Given the description of an element on the screen output the (x, y) to click on. 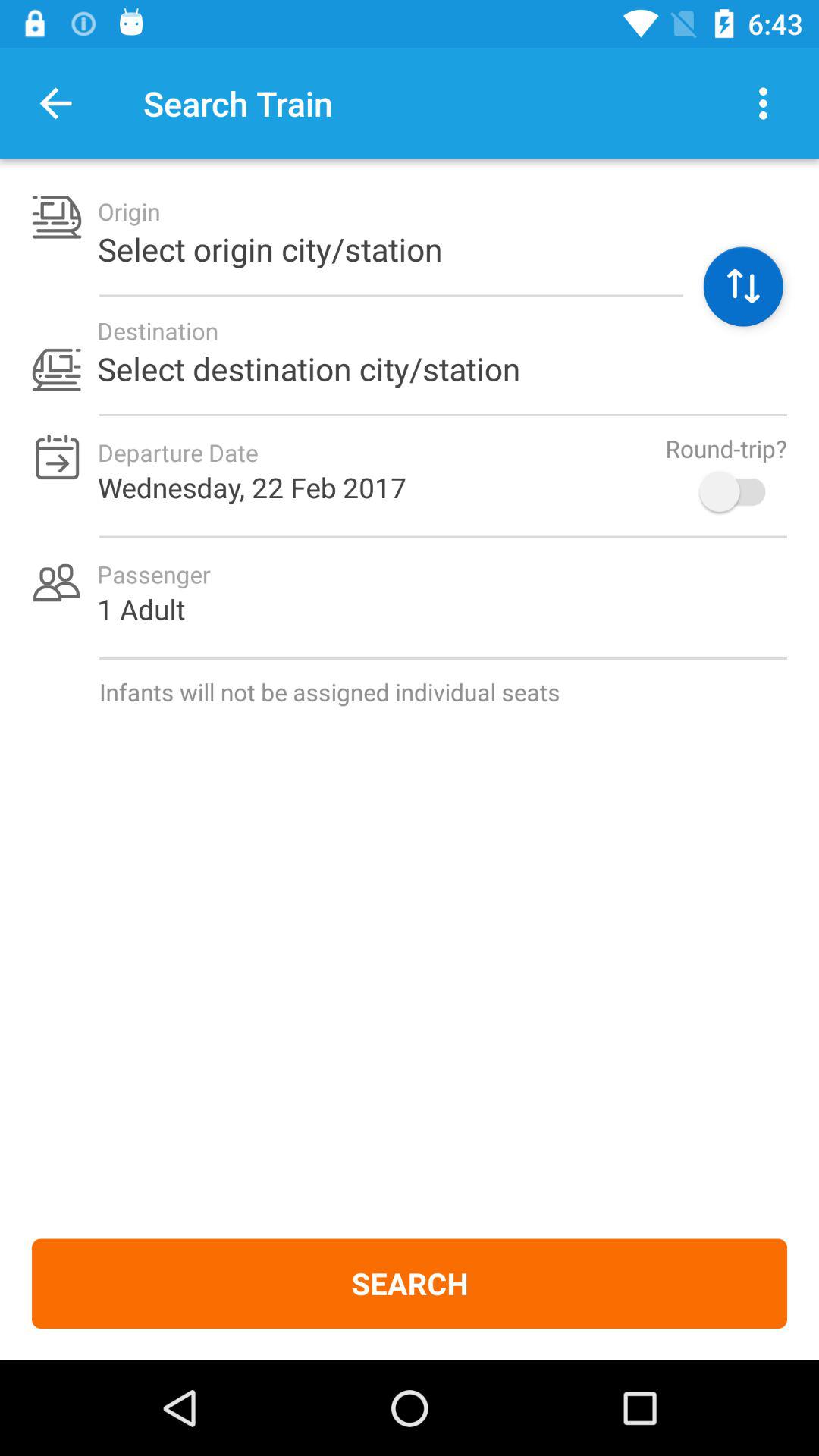
click icon next to the select origin city item (743, 286)
